Given the description of an element on the screen output the (x, y) to click on. 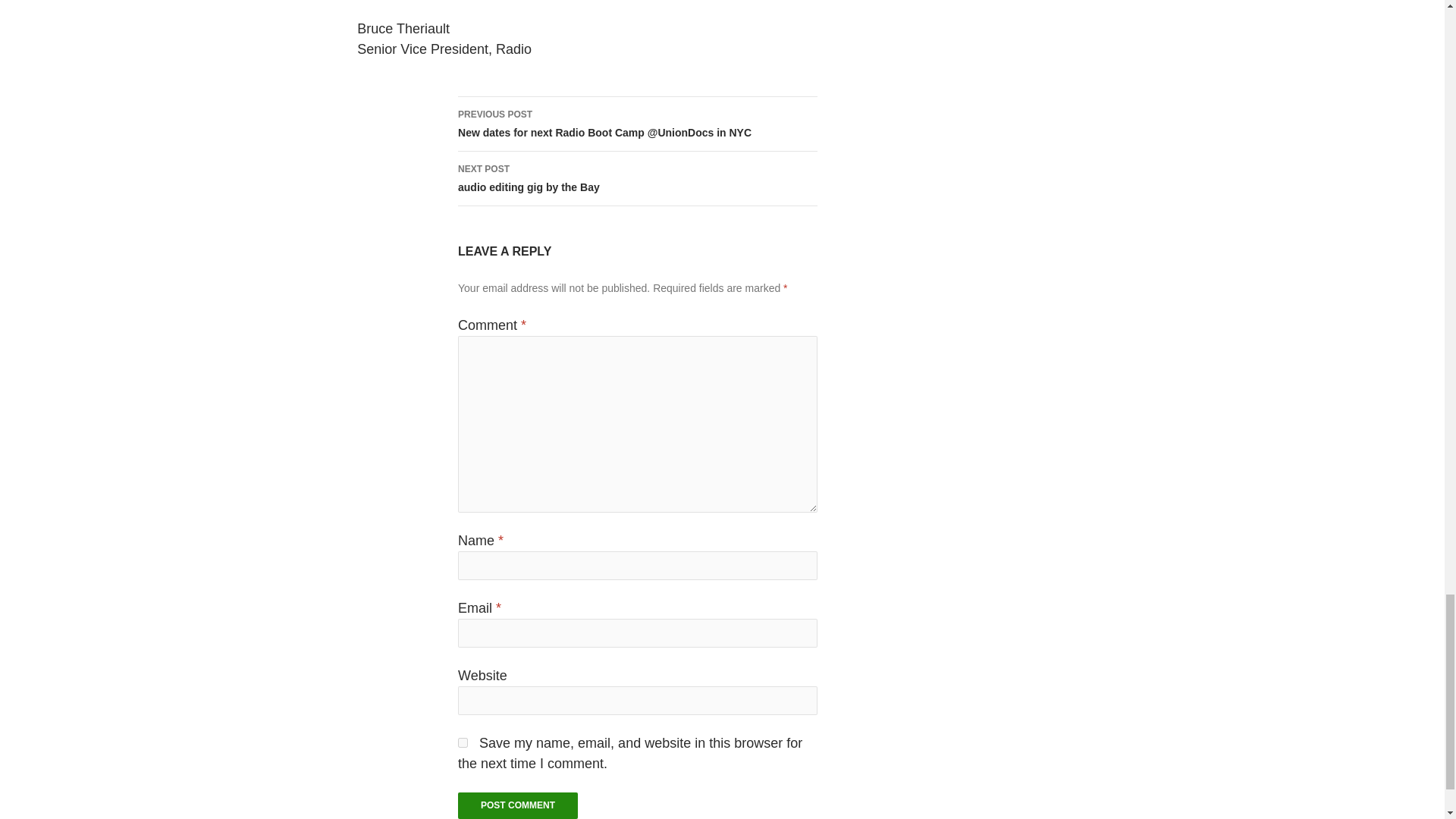
yes (462, 742)
Post Comment (518, 805)
Post Comment (518, 805)
